Given the description of an element on the screen output the (x, y) to click on. 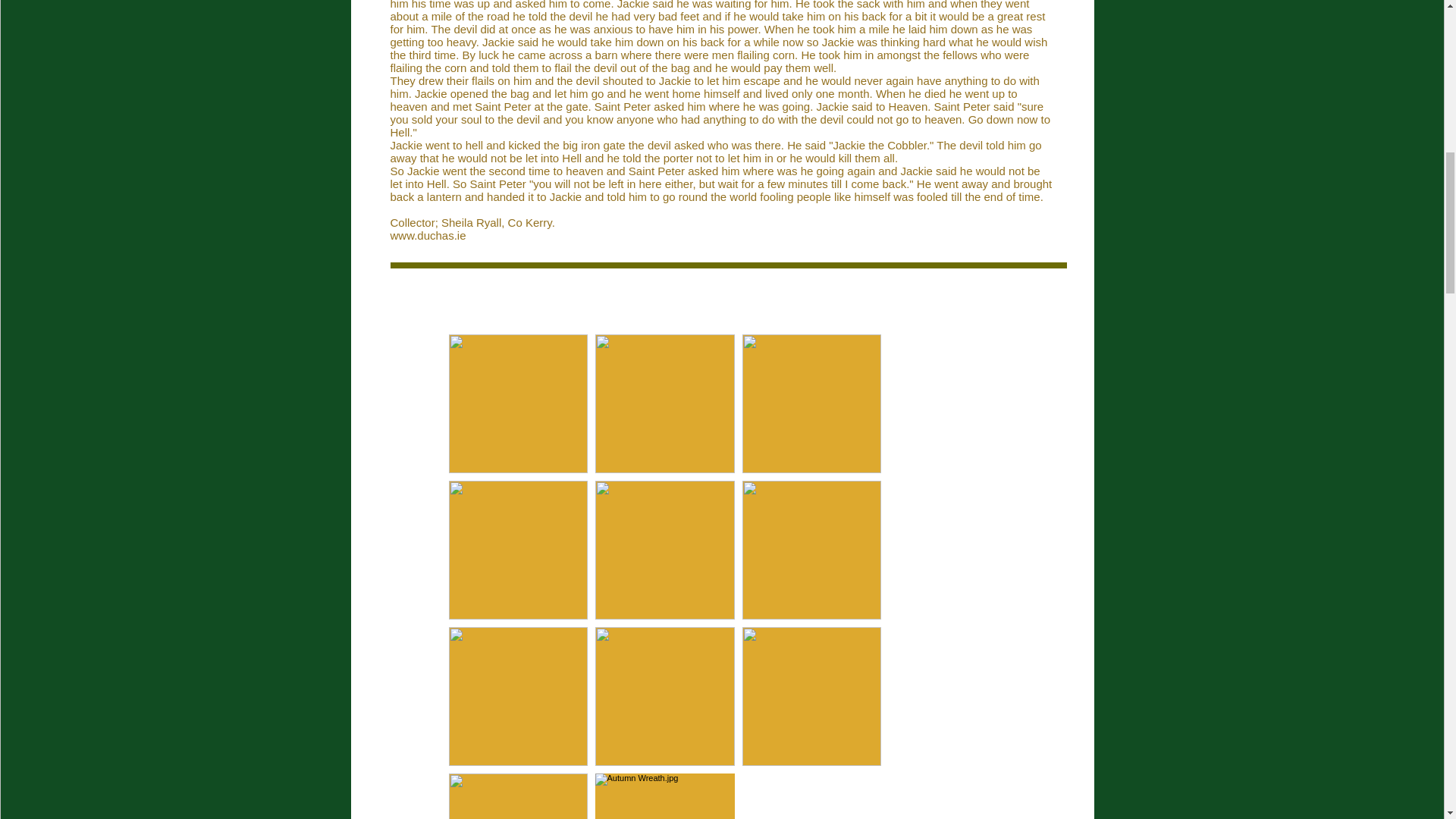
www.duchas.ie (427, 235)
